Given the description of an element on the screen output the (x, y) to click on. 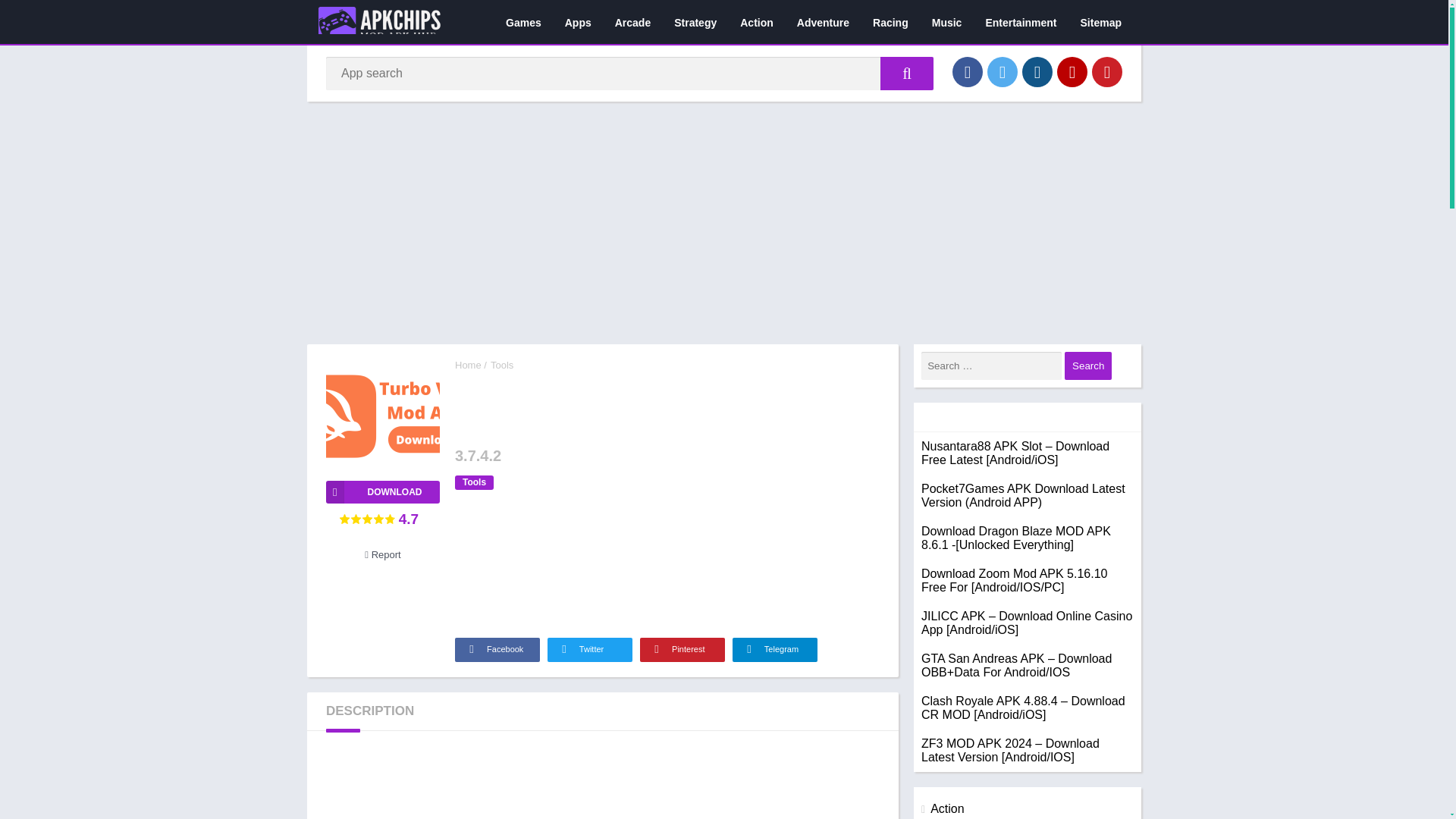
YouTube (1072, 71)
Twitter (1002, 71)
Music (947, 22)
Home (467, 365)
Pinterest (682, 649)
Instagram (1037, 71)
Tools (501, 365)
Games (524, 22)
Strategy (695, 22)
Apps (577, 22)
